Given the description of an element on the screen output the (x, y) to click on. 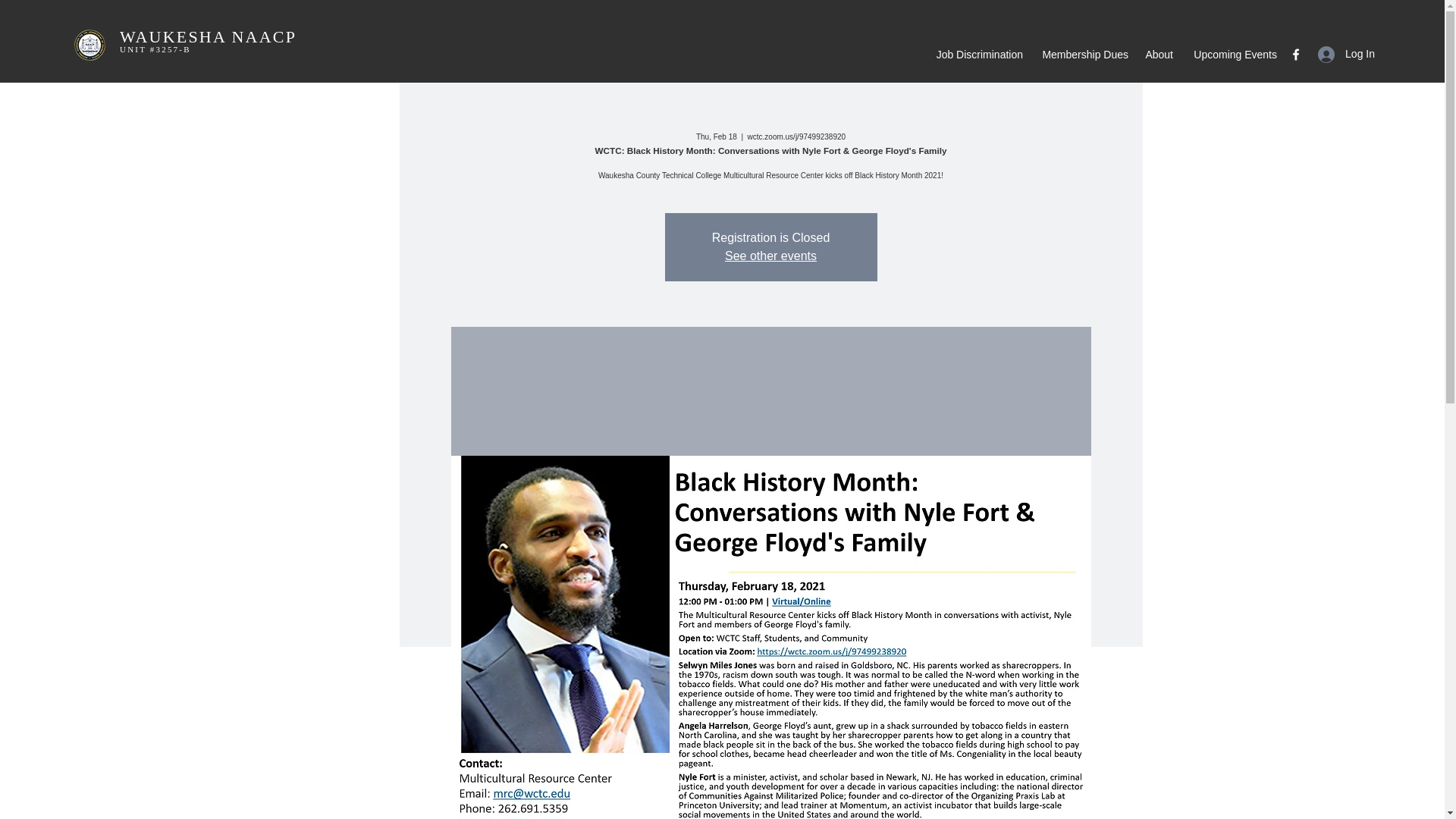
See other events (770, 255)
Upcoming Events (1232, 54)
Membership Dues (1082, 54)
Log In (1346, 53)
About (1157, 54)
Job Discrimination (977, 54)
